Given the description of an element on the screen output the (x, y) to click on. 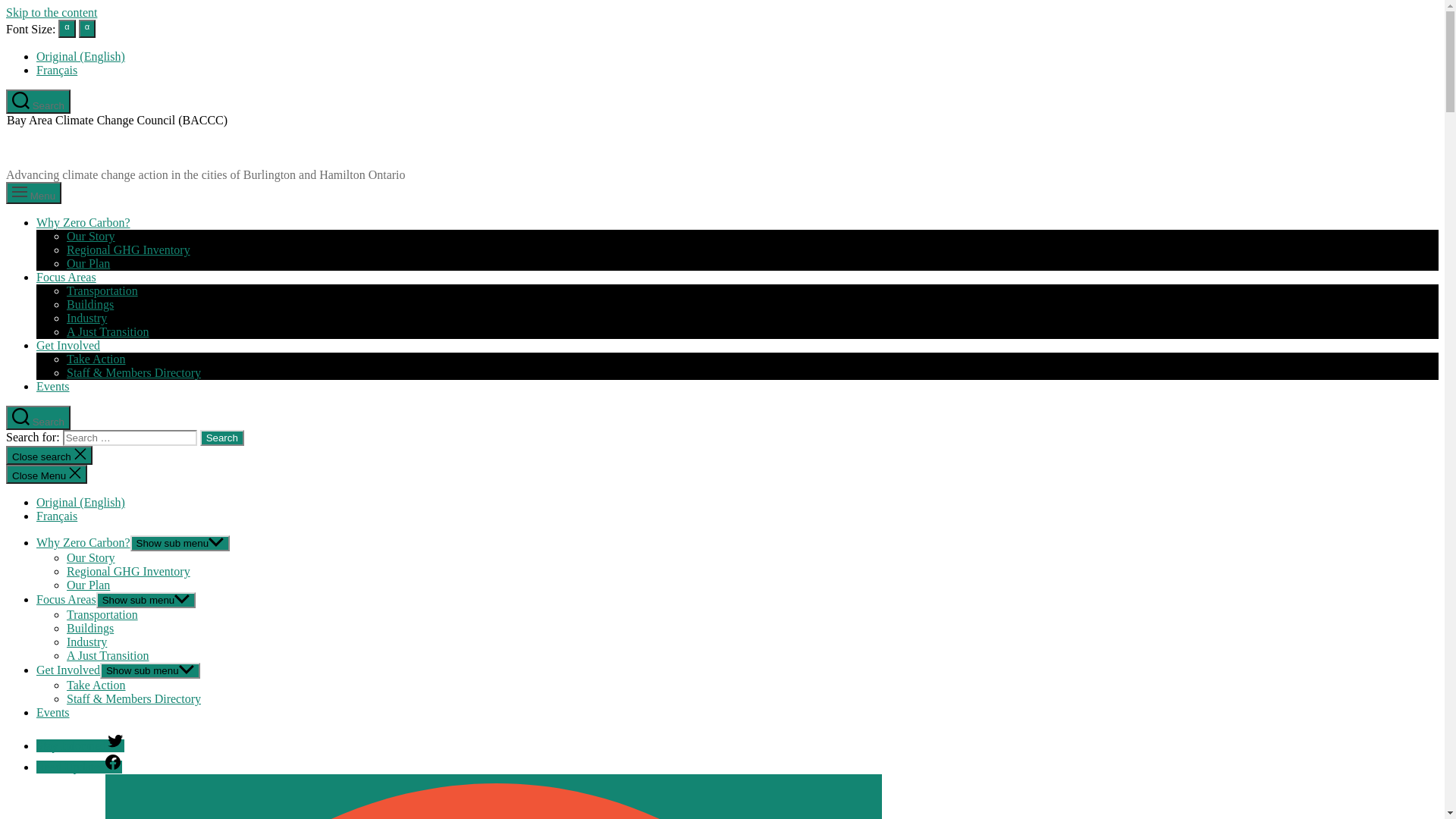
Buildings Element type: text (89, 627)
Regional GHG Inventory Element type: text (128, 570)
Get Involved Element type: text (68, 344)
Transportation Element type: text (102, 614)
Events Element type: text (52, 385)
Industry Element type: text (86, 641)
Read Updates Element type: text (79, 766)
Staff & Members Directory Element type: text (133, 372)
Regional GHG Inventory Element type: text (128, 249)
Why Zero Carbon? Element type: text (83, 222)
Staff & Members Directory Element type: text (133, 698)
Close search Element type: text (49, 454)
Transportation Element type: text (102, 290)
Focus Areas Element type: text (66, 599)
Original (English) Element type: text (80, 56)
Our Story Element type: text (90, 557)
Original (English) Element type: text (80, 501)
Skip to the content Element type: text (51, 12)
Our Plan Element type: text (87, 263)
Show sub menu Element type: text (180, 543)
Search Element type: text (38, 101)
A Just Transition Element type: text (107, 655)
Take Action Element type: text (95, 358)
Search Element type: text (222, 437)
Close Menu Element type: text (46, 473)
Stay Informed Element type: text (80, 745)
Focus Areas Element type: text (66, 276)
Menu Element type: text (33, 192)
Our Plan Element type: text (87, 584)
Buildings Element type: text (89, 304)
Show sub menu Element type: text (150, 670)
A Just Transition Element type: text (107, 331)
Get Involved Element type: text (68, 669)
Our Story Element type: text (90, 235)
Take Action Element type: text (95, 684)
Show sub menu Element type: text (146, 600)
Events Element type: text (52, 712)
Search Element type: text (38, 417)
Why Zero Carbon? Element type: text (83, 542)
Industry Element type: text (86, 317)
